Given the description of an element on the screen output the (x, y) to click on. 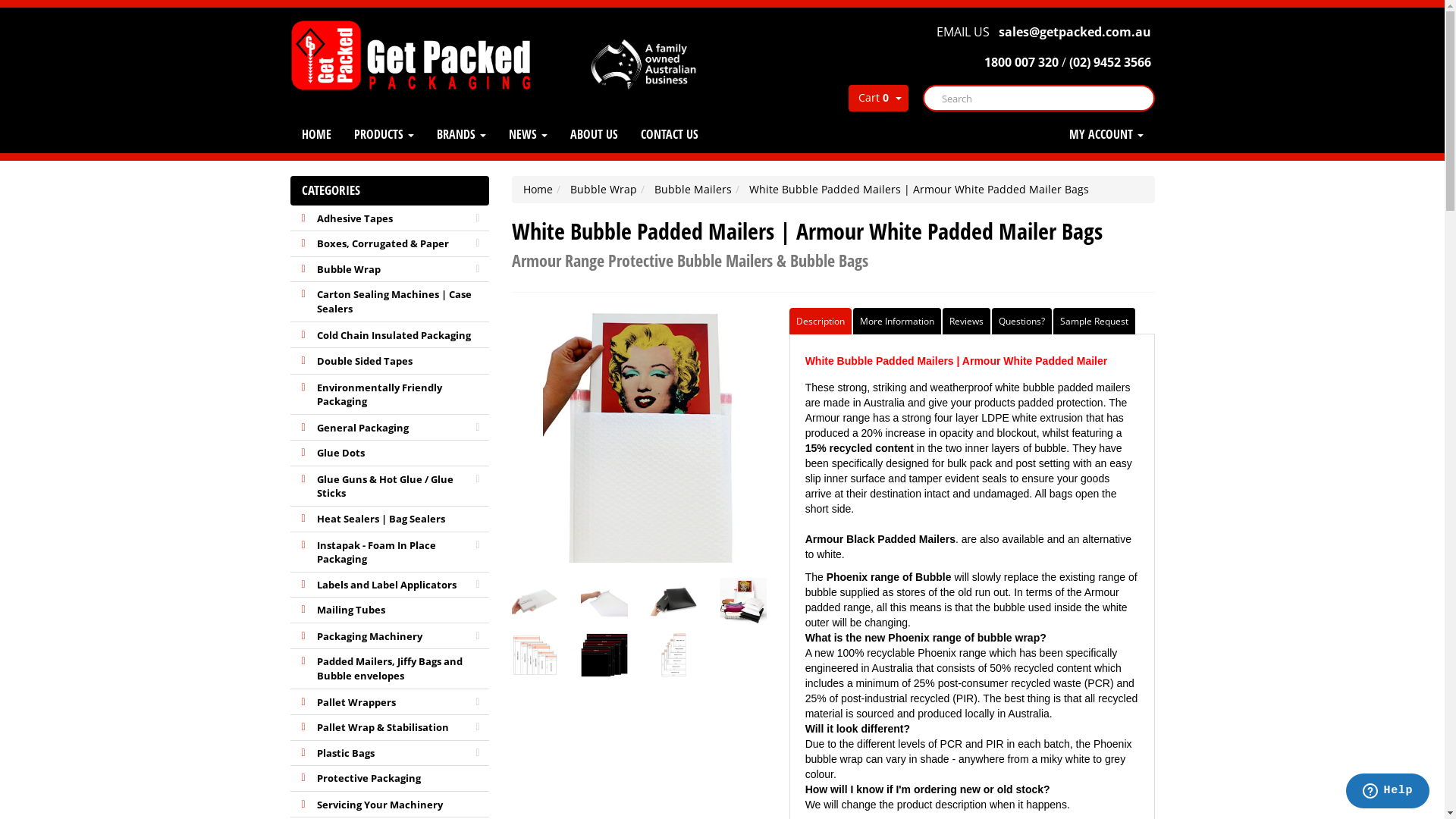
Opens a widget where you can chat to one of our agents Element type: hover (1387, 792)
Protective Packaging Element type: text (389, 778)
Servicing Your Machinery Element type: text (389, 805)
1800 007 320 Element type: text (1018, 61)
Cart 0 Element type: text (868, 97)
MY ACCOUNT Element type: text (1105, 134)
Plastic Bags Element type: text (389, 753)
(02) 9452 3566 Element type: text (1110, 61)
Heat Sealers | Bag Sealers Element type: text (389, 519)
General Packaging Element type: text (389, 428)
More Information Element type: text (897, 320)
ABOUT US Element type: text (593, 134)
Glue Guns & Hot Glue / Glue Sticks Element type: text (389, 486)
Large View Element type: hover (603, 600)
Description Element type: text (820, 320)
CONTACT US Element type: text (669, 134)
Double Sided Tapes Element type: text (389, 361)
Glue Dots Element type: text (389, 453)
Sample Request Element type: text (1094, 320)
PRODUCTS Element type: text (383, 134)
Bubble Wrap Element type: text (603, 189)
Carton Sealing Machines | Case Sealers Element type: text (389, 301)
Labels and Label Applicators Element type: text (389, 585)
Large View Element type: hover (603, 654)
Boxes, Corrugated & Paper Element type: text (389, 244)
Search Element type: text (932, 97)
Questions? Element type: text (1021, 320)
Cold Chain Insulated Packaging Element type: text (389, 335)
Large View Element type: hover (534, 654)
Armour Black Padded Mailers Element type: text (880, 539)
Packaging Machinery Element type: text (389, 636)
Pallet Wrap & Stabilisation Element type: text (389, 727)
Large View Element type: hover (673, 600)
HOME Element type: text (315, 134)
Pallet Wrappers Element type: text (389, 702)
EMAIL US   sales@getpacked.com.au Element type: text (1041, 31)
NEWS Element type: text (527, 134)
Bubble Wrap Element type: text (389, 269)
Padded Mailers, Jiffy Bags and Bubble envelopes Element type: text (389, 668)
Get Packed Pty Ltd Element type: hover (415, 54)
Bubble Mailers Element type: text (692, 189)
Reviews Element type: text (966, 320)
Instapak - Foam In Place Packaging Element type: text (389, 552)
Large View Element type: hover (534, 600)
Large View Element type: hover (742, 600)
Large View Element type: hover (673, 654)
Environmentally Friendly Packaging Element type: text (389, 394)
BRANDS Element type: text (460, 134)
Home Element type: text (537, 189)
Adhesive Tapes Element type: text (389, 219)
Mailing Tubes Element type: text (389, 610)
